Given the description of an element on the screen output the (x, y) to click on. 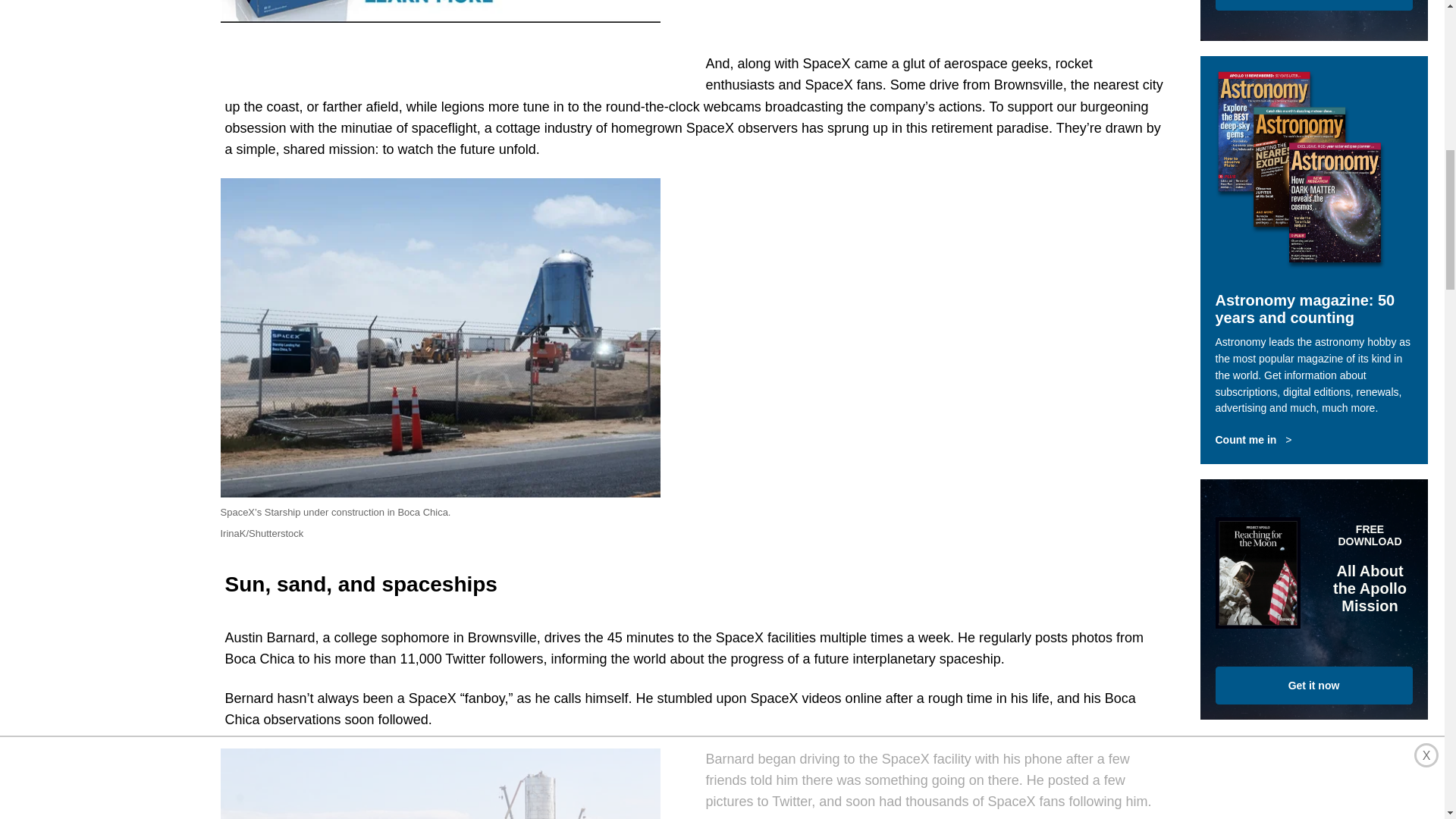
Sign Up (1313, 5)
3rd party ad content (937, 272)
